Given the description of an element on the screen output the (x, y) to click on. 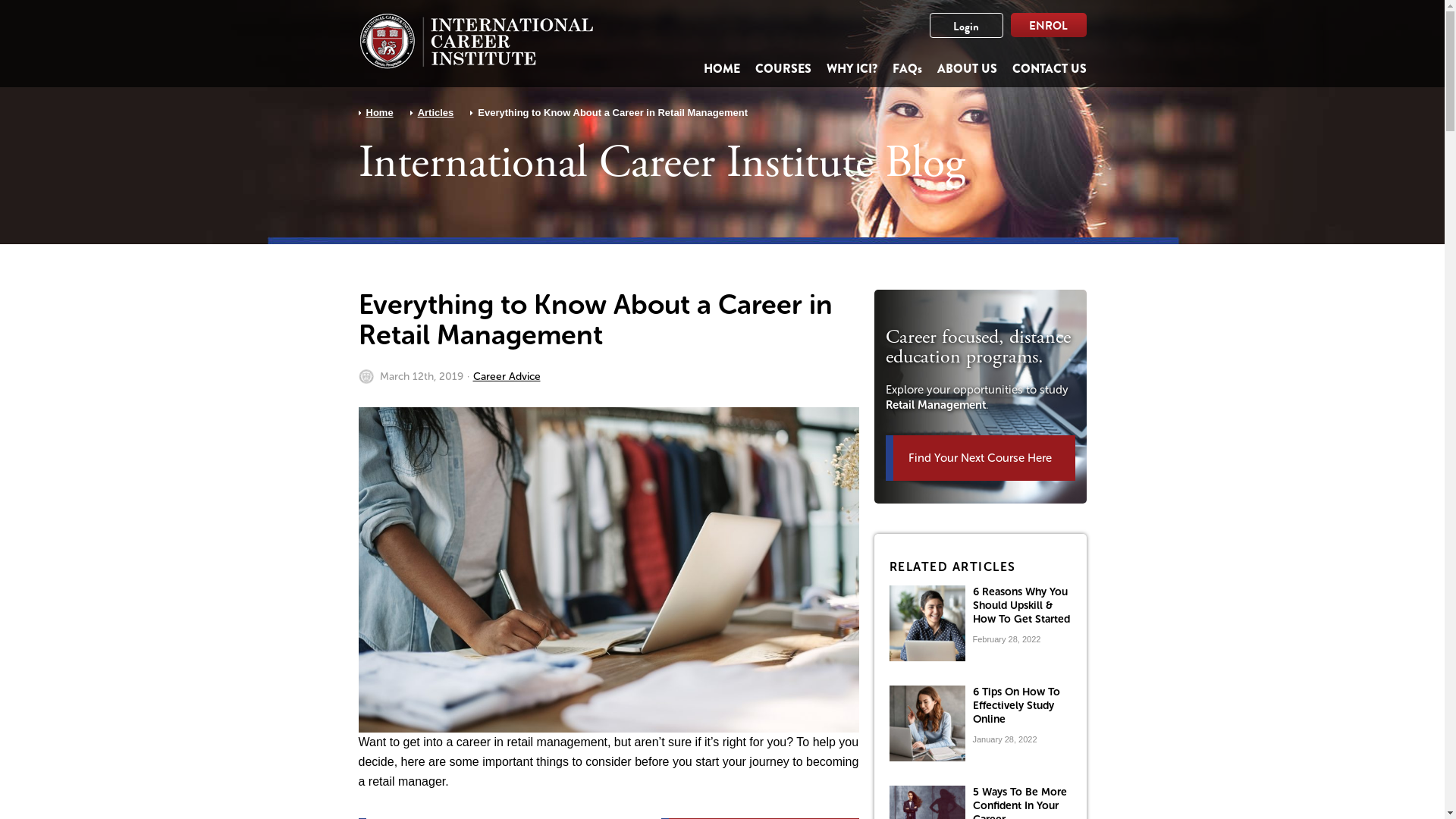
ABOUT US Element type: text (967, 68)
6 Reasons Why You Should Upskill & How To Get Started Element type: text (1020, 605)
COURSES Element type: text (783, 68)
FAQs Element type: text (906, 68)
WHY ICI? Element type: text (851, 68)
CONTACT US Element type: text (1048, 68)
ENROL Element type: text (1047, 24)
Home Element type: text (378, 112)
Retail Management Element type: text (935, 404)
Career Advice Element type: text (506, 376)
6 Tips On How To Effectively Study Online Element type: text (1015, 705)
Find Your Next Course Here Element type: text (980, 457)
Login Element type: text (966, 24)
HOME Element type: text (721, 68)
Articles Element type: text (435, 112)
